Given the description of an element on the screen output the (x, y) to click on. 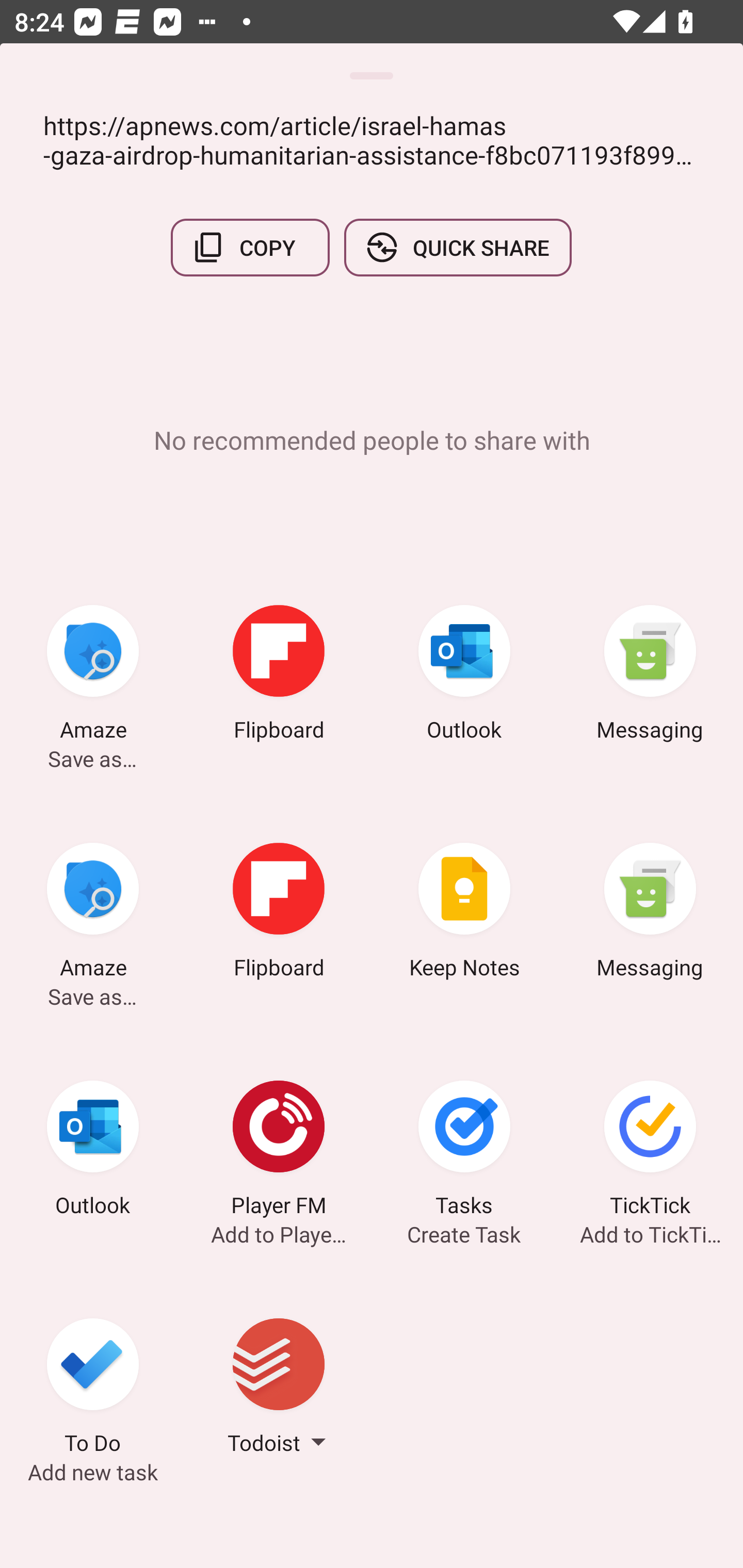
COPY (249, 247)
QUICK SHARE (457, 247)
Amaze Save as… (92, 675)
Flipboard (278, 675)
Outlook (464, 675)
Messaging (650, 675)
Amaze Save as… (92, 913)
Flipboard (278, 913)
Keep Notes (464, 913)
Messaging (650, 913)
Outlook (92, 1151)
Player FM Add to Player FM (278, 1151)
Tasks Create Task (464, 1151)
TickTick Add to TickTick (650, 1151)
To Do Add new task (92, 1389)
Todoist (278, 1389)
